Given the description of an element on the screen output the (x, y) to click on. 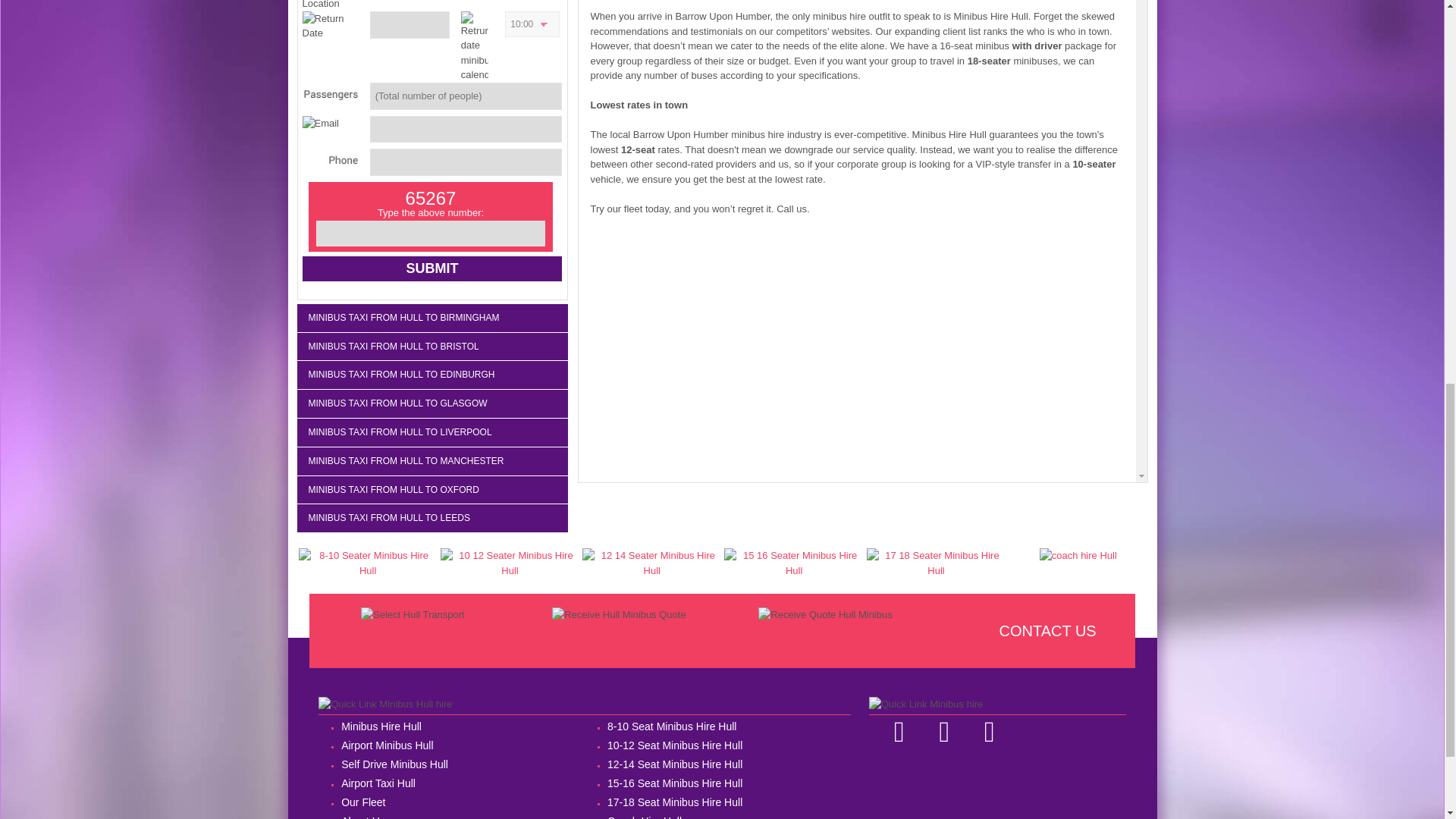
Airport Taxi Hull (451, 783)
Our Fleet (451, 802)
CONTACT US (1047, 630)
Minibus Hire Hull (451, 726)
MINIBUS TAXI FROM HULL TO LIVERPOOL (431, 432)
Submit (431, 268)
MINIBUS TAXI FROM HULL TO BIRMINGHAM (431, 317)
MINIBUS TAXI FROM HULL TO GLASGOW (431, 403)
MINIBUS TAXI FROM HULL TO LEEDS (431, 518)
Self Drive Minibus Hull (451, 764)
